Given the description of an element on the screen output the (x, y) to click on. 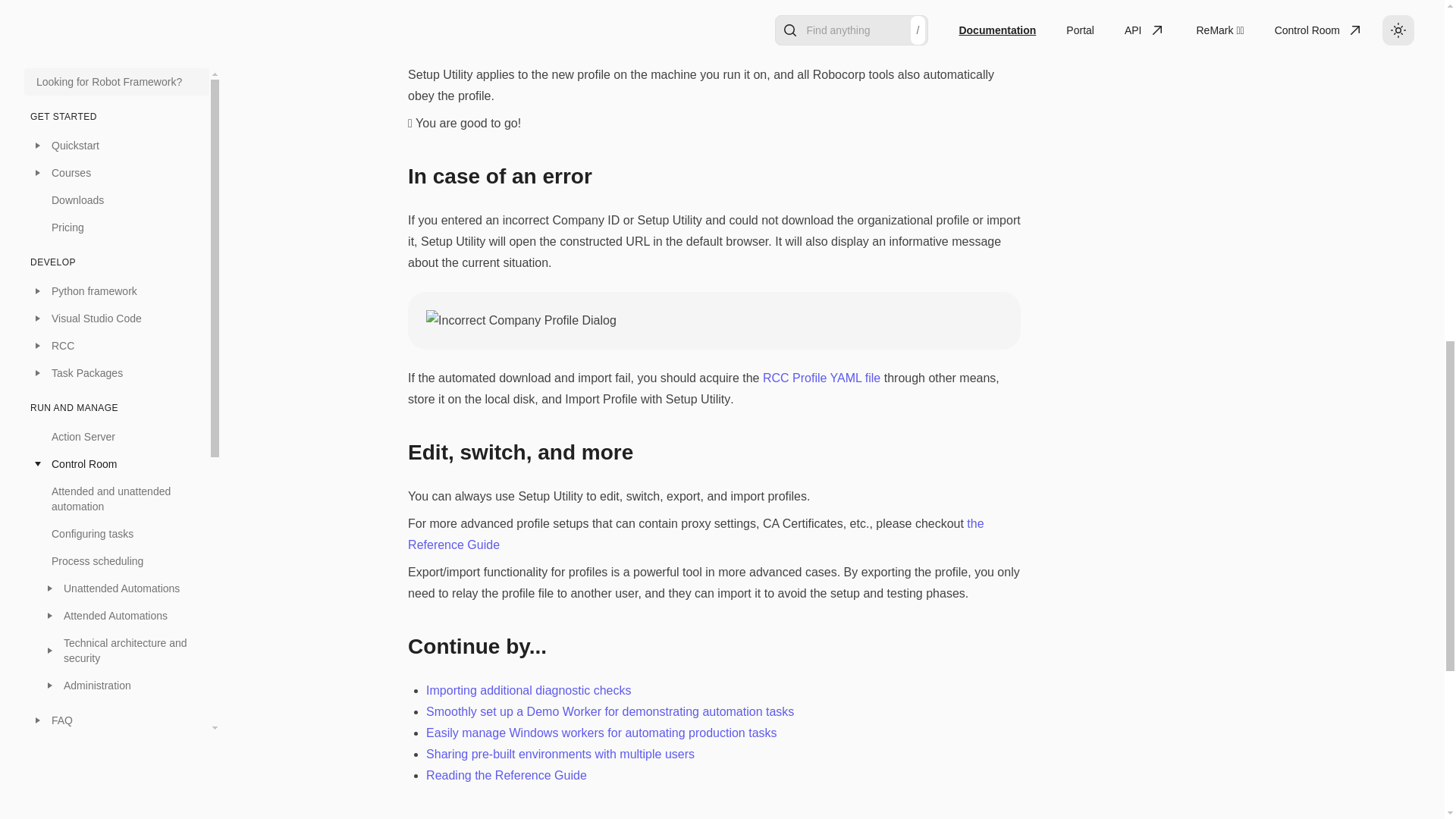
Setup for Windows Workers (122, 252)
Vault for secrets (116, 31)
Share pre-built environments (122, 280)
Reference guide (122, 307)
Asset Storage (116, 9)
Quickly validate your environment (122, 120)
Setup for a Demo Worker (122, 225)
Additional diagnostic checks (122, 198)
Setup Utility (122, 58)
Setup for a dedicated company profile (122, 163)
